Given the description of an element on the screen output the (x, y) to click on. 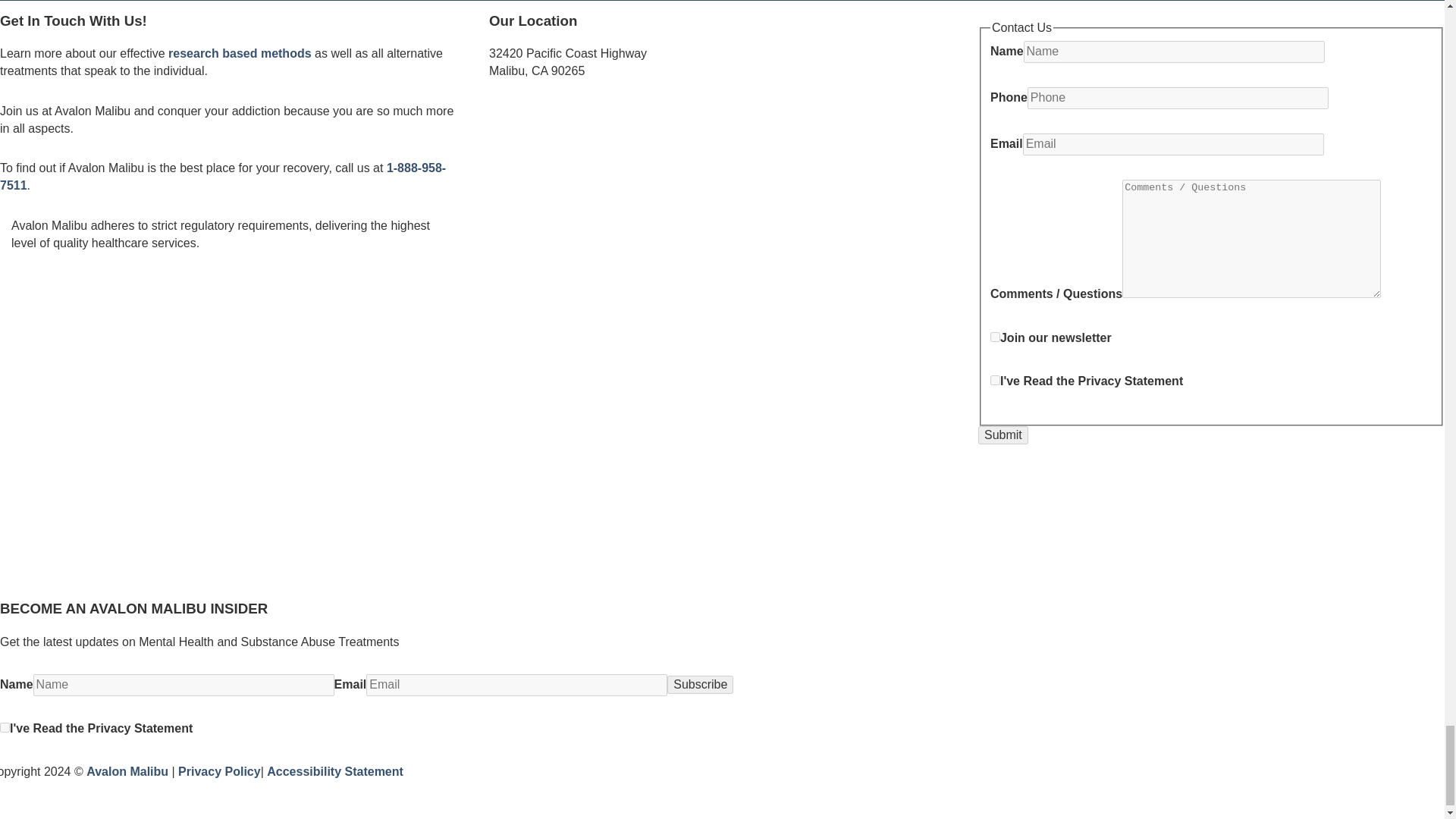
Join our newsletter (995, 337)
I've Read the Privacy Statement (995, 379)
Submit (1002, 434)
I've Read the Privacy Statement (5, 727)
Subscribe (699, 684)
